Given the description of an element on the screen output the (x, y) to click on. 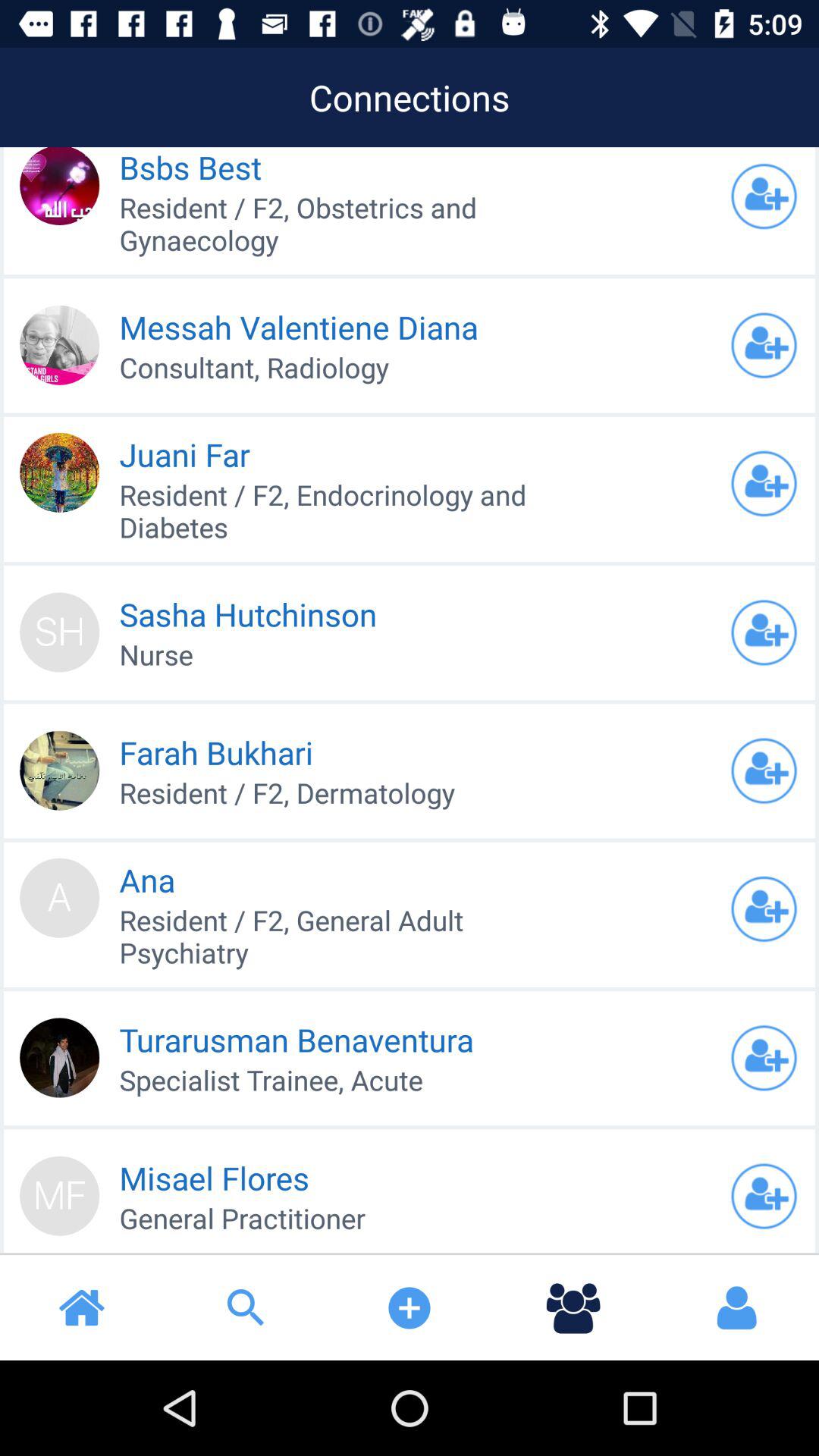
add friend (764, 770)
